Given the description of an element on the screen output the (x, y) to click on. 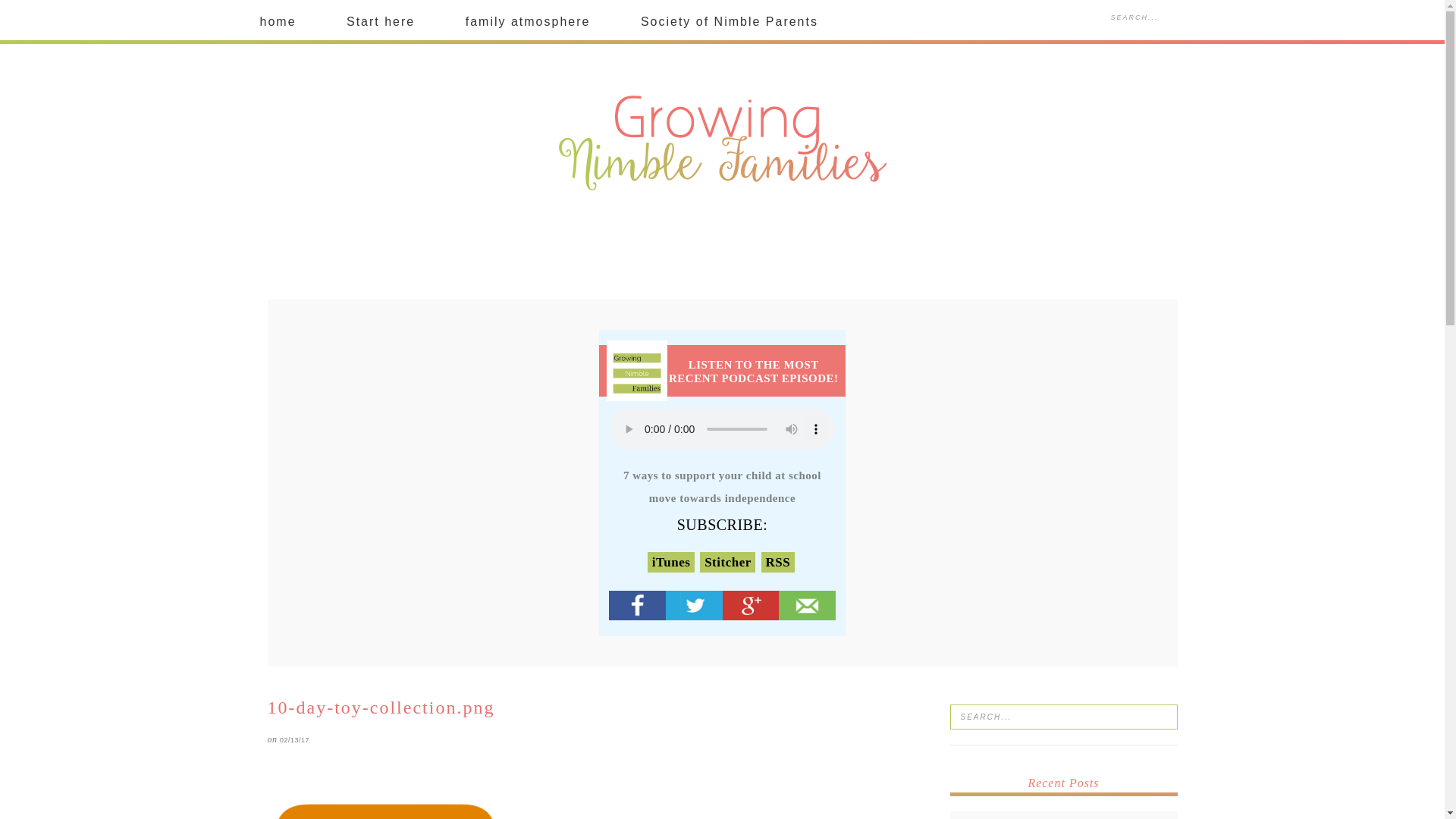
iTunes (670, 562)
Stitcher (727, 562)
family atmosphere (527, 22)
Start here (380, 22)
Society of Nimble Parents (729, 22)
RSS (777, 562)
GROWING NIMBLE FAMILIES (722, 143)
home (276, 22)
